Given the description of an element on the screen output the (x, y) to click on. 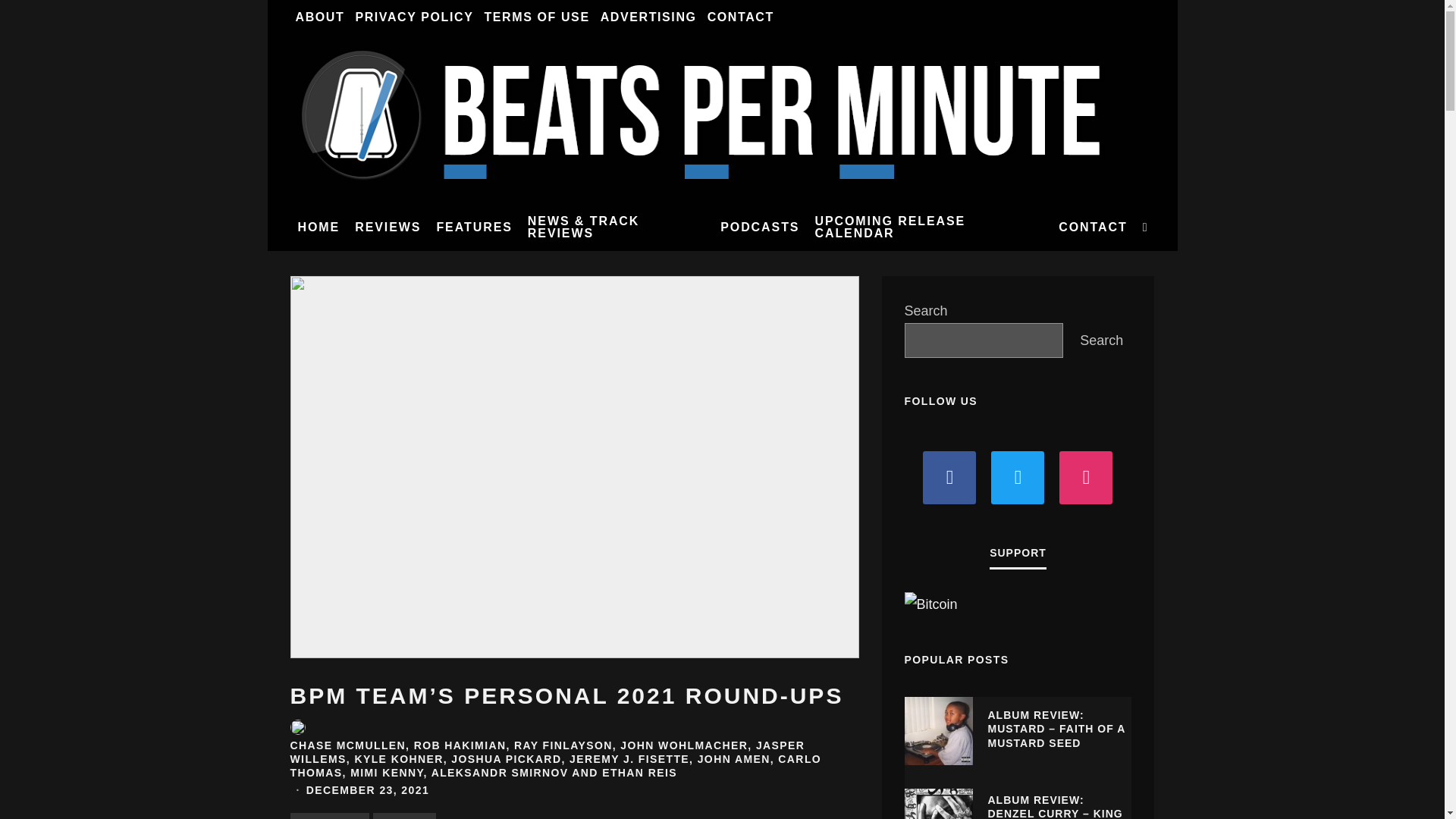
PRIVACY POLICY (414, 17)
FEATURES (473, 226)
REVIEWS (387, 226)
ABOUT (319, 17)
ADVERTISING (648, 17)
HOME (318, 226)
CONTACT (739, 17)
TERMS OF USE (536, 17)
